Given the description of an element on the screen output the (x, y) to click on. 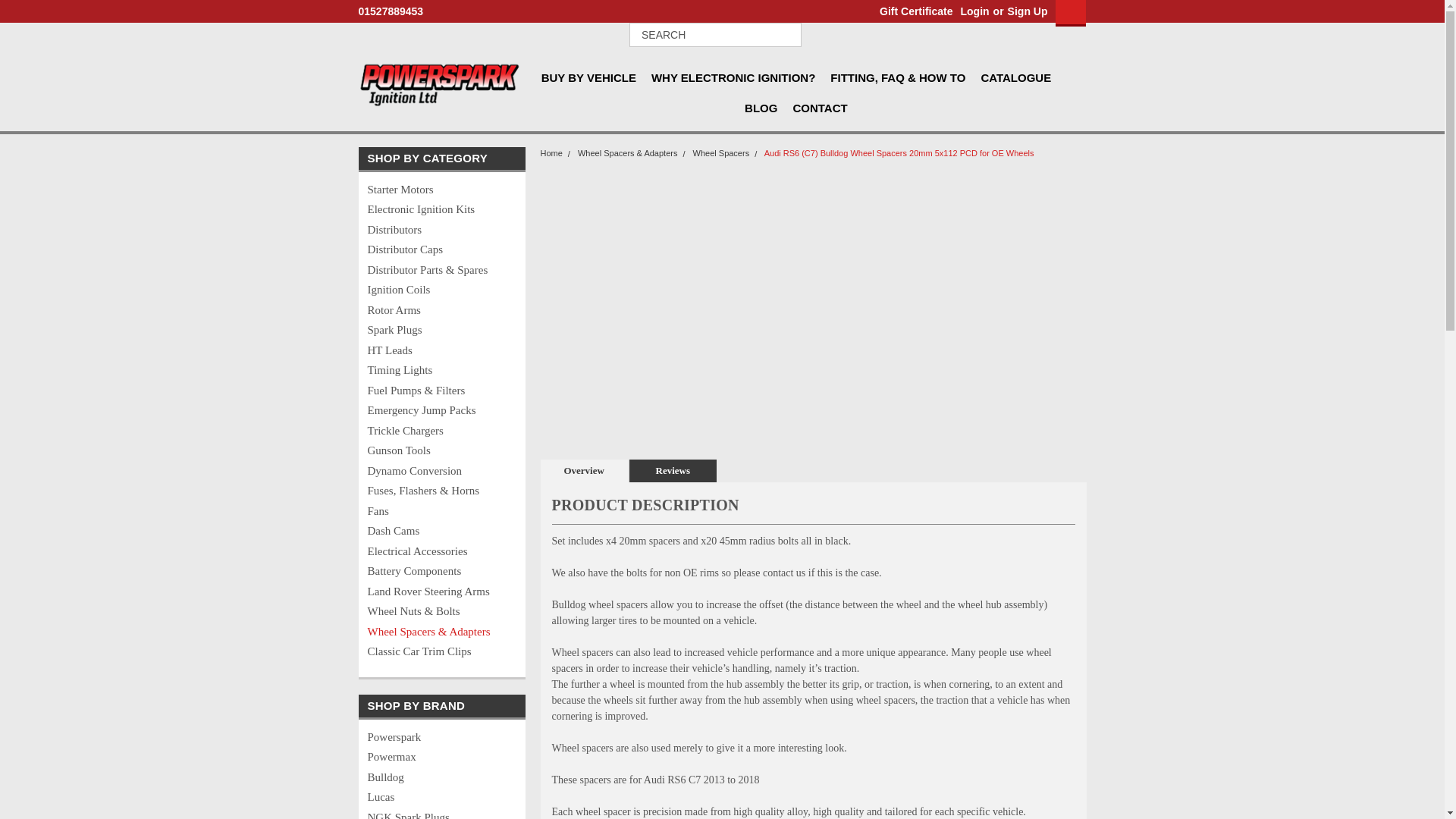
submit (785, 34)
Login (973, 11)
BLOG (768, 108)
Gift Certificate (912, 11)
WHY ELECTRONIC IGNITION? (739, 78)
Sign Up (1026, 11)
CONTACT (826, 108)
Powerspark Ignition Ltd (439, 85)
CATALOGUE (1022, 78)
BUY BY VEHICLE (595, 78)
